Given the description of an element on the screen output the (x, y) to click on. 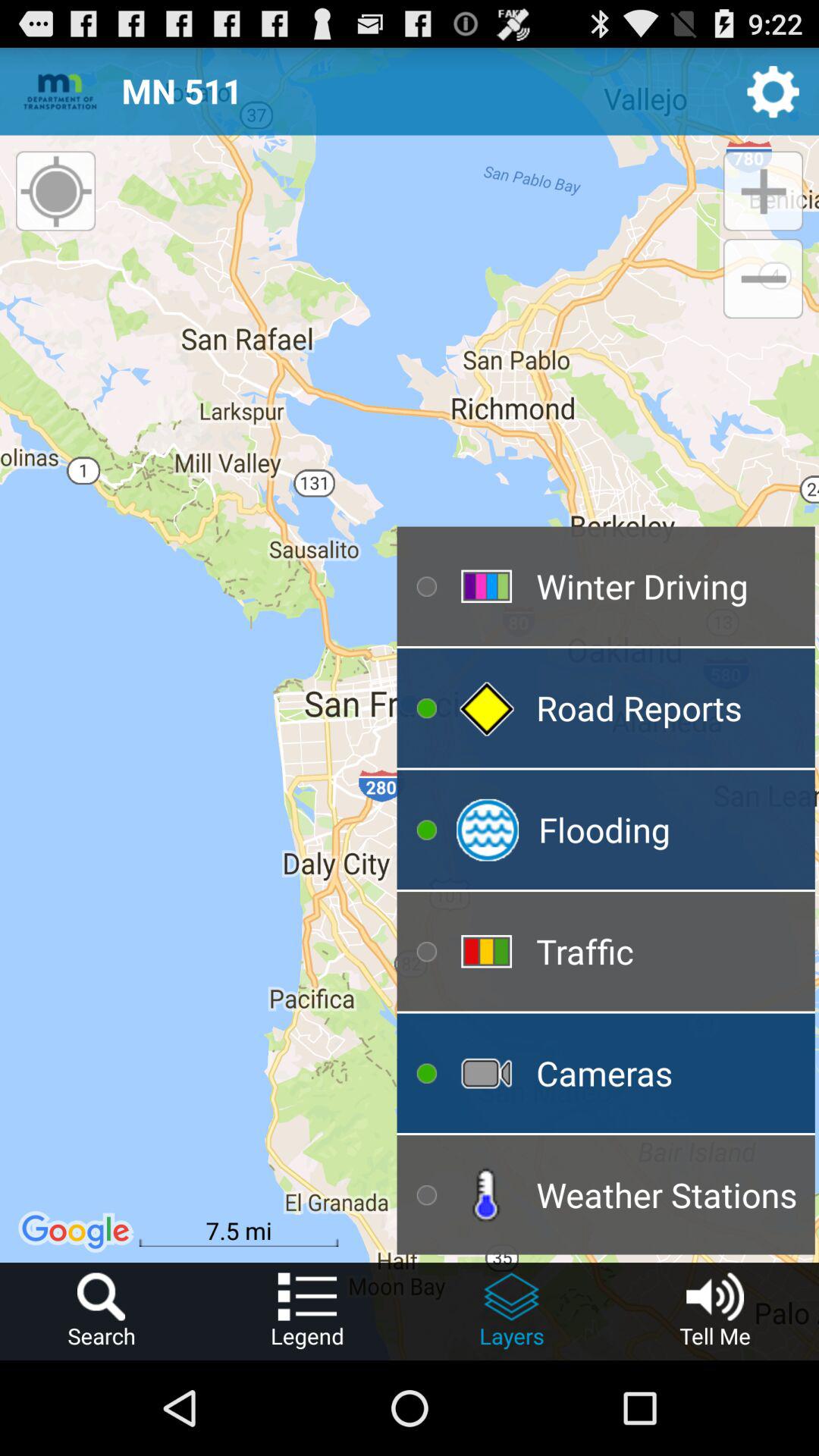
view settings (773, 91)
